Given the description of an element on the screen output the (x, y) to click on. 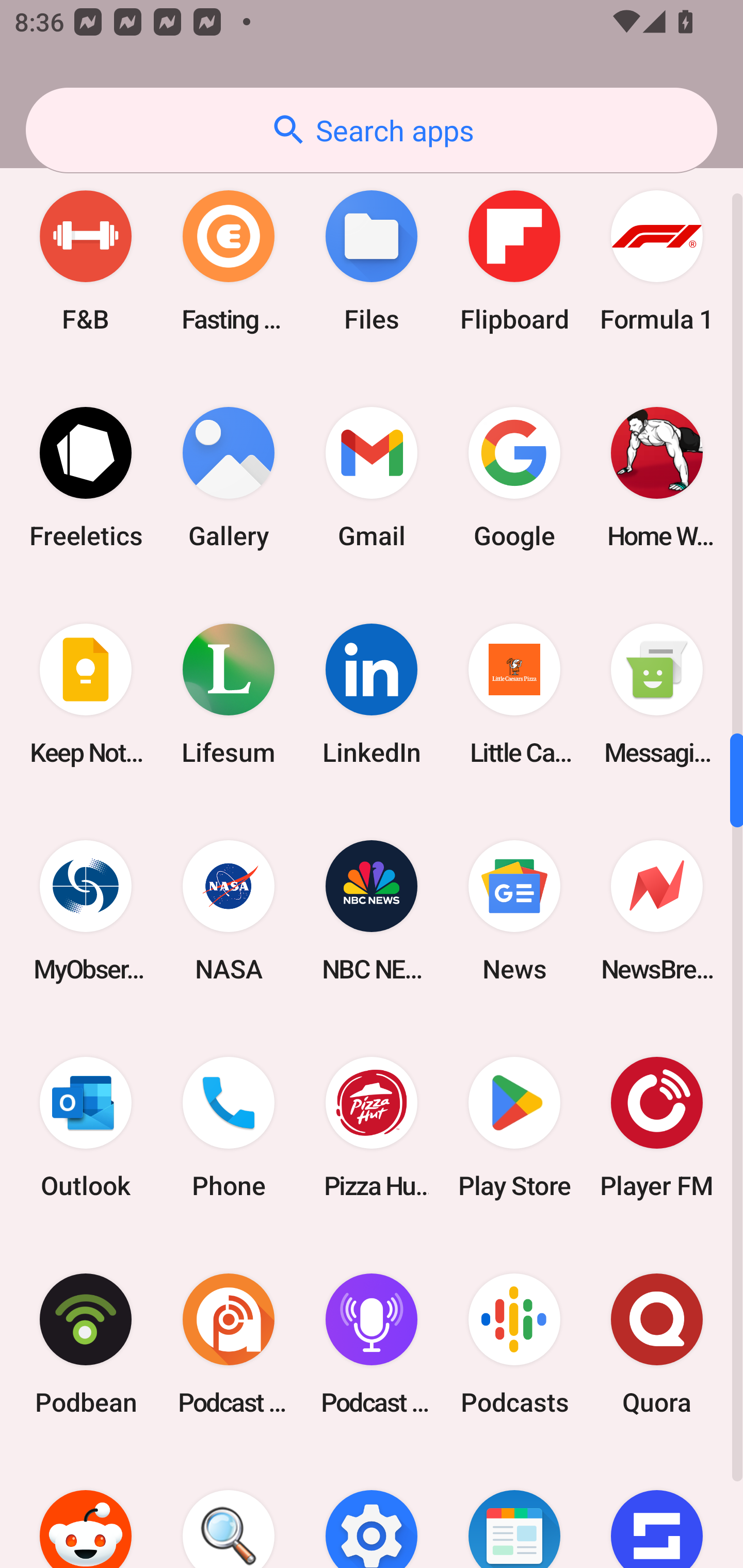
  Search apps (371, 130)
F&B (85, 261)
Fasting Coach (228, 261)
Files (371, 261)
Flipboard (514, 261)
Formula 1 (656, 261)
Freeletics (85, 478)
Gallery (228, 478)
Gmail (371, 478)
Google (514, 478)
Home Workout (656, 478)
Keep Notes (85, 694)
Lifesum (228, 694)
LinkedIn (371, 694)
Little Caesars Pizza (514, 694)
Messaging (656, 694)
MyObservatory (85, 910)
NASA (228, 910)
NBC NEWS (371, 910)
News (514, 910)
NewsBreak (656, 910)
Outlook (85, 1127)
Phone (228, 1127)
Pizza Hut HK & Macau (371, 1127)
Play Store (514, 1127)
Player FM (656, 1127)
Podbean (85, 1343)
Podcast Addict (228, 1343)
Podcast Player (371, 1343)
Podcasts (514, 1343)
Quora (656, 1343)
Reddit (85, 1509)
Search (228, 1509)
Settings (371, 1509)
SmartNews (514, 1509)
Sofascore (656, 1509)
